Given the description of an element on the screen output the (x, y) to click on. 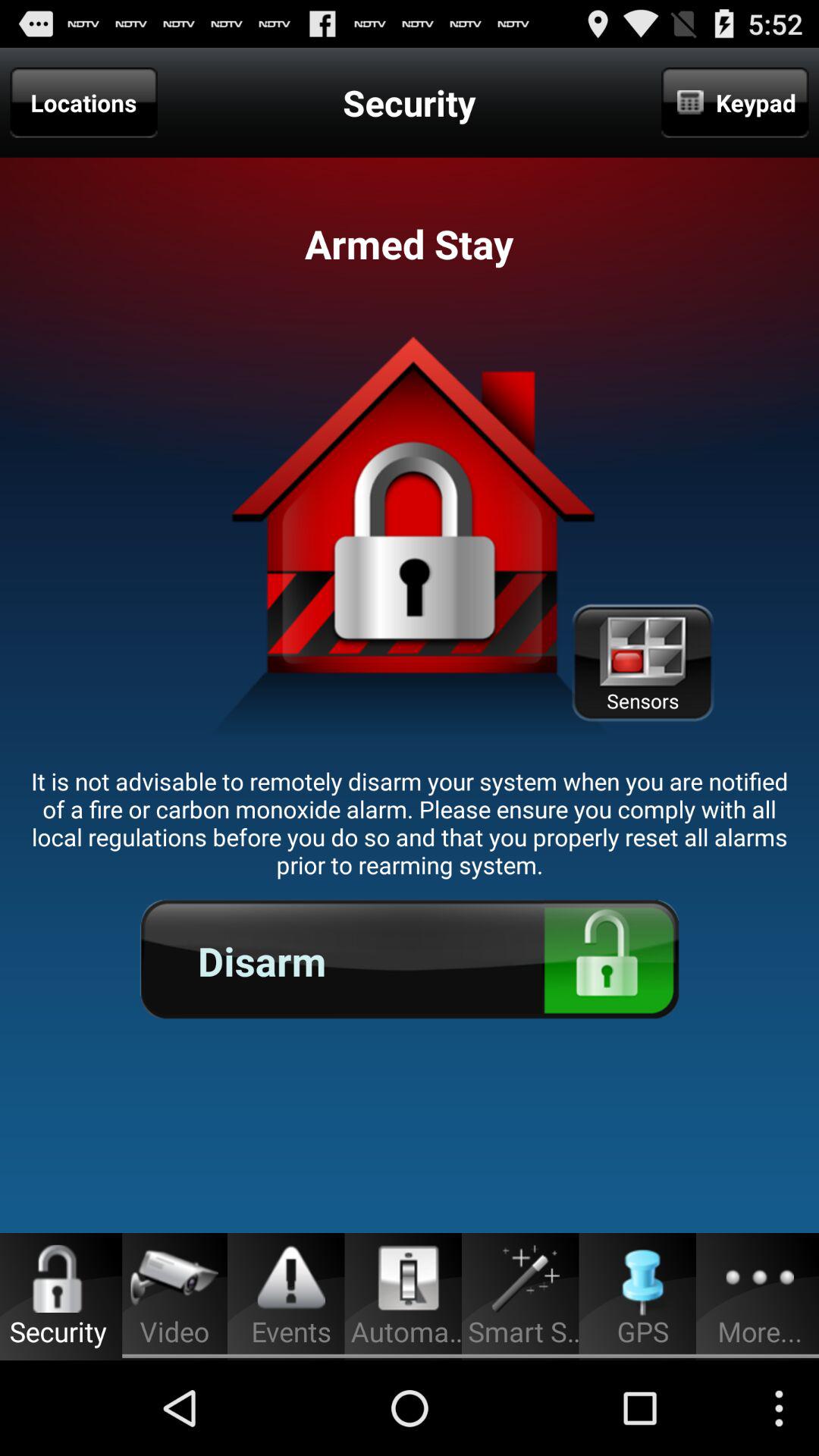
swipe to sensors (642, 662)
